Given the description of an element on the screen output the (x, y) to click on. 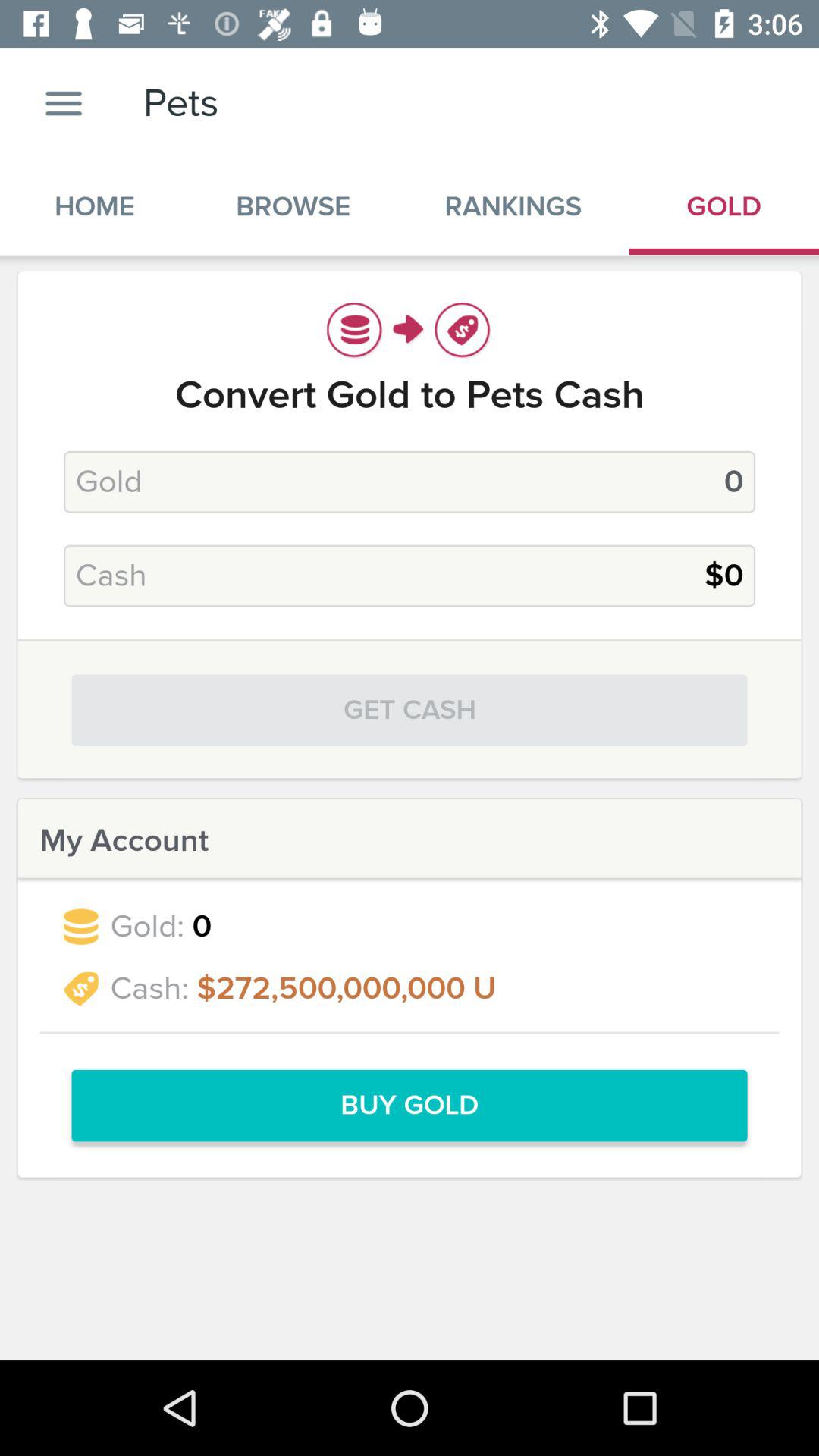
view options menu (63, 103)
